Given the description of an element on the screen output the (x, y) to click on. 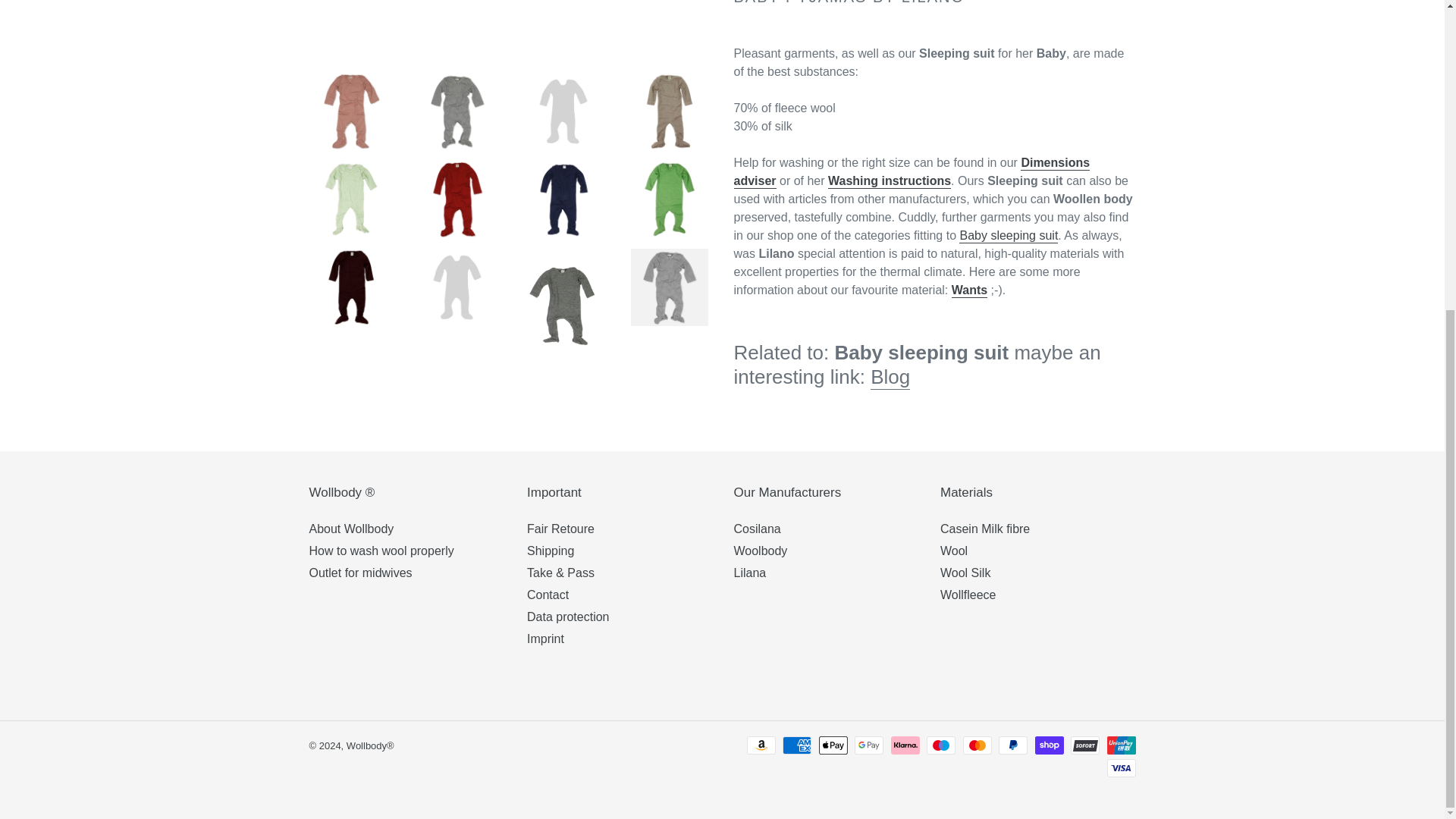
to washing instructions (889, 181)
woollen body (890, 377)
to dimensions adviser (911, 172)
Bonnets (969, 290)
BabySchlafanzugLilano (1008, 236)
